Given the description of an element on the screen output the (x, y) to click on. 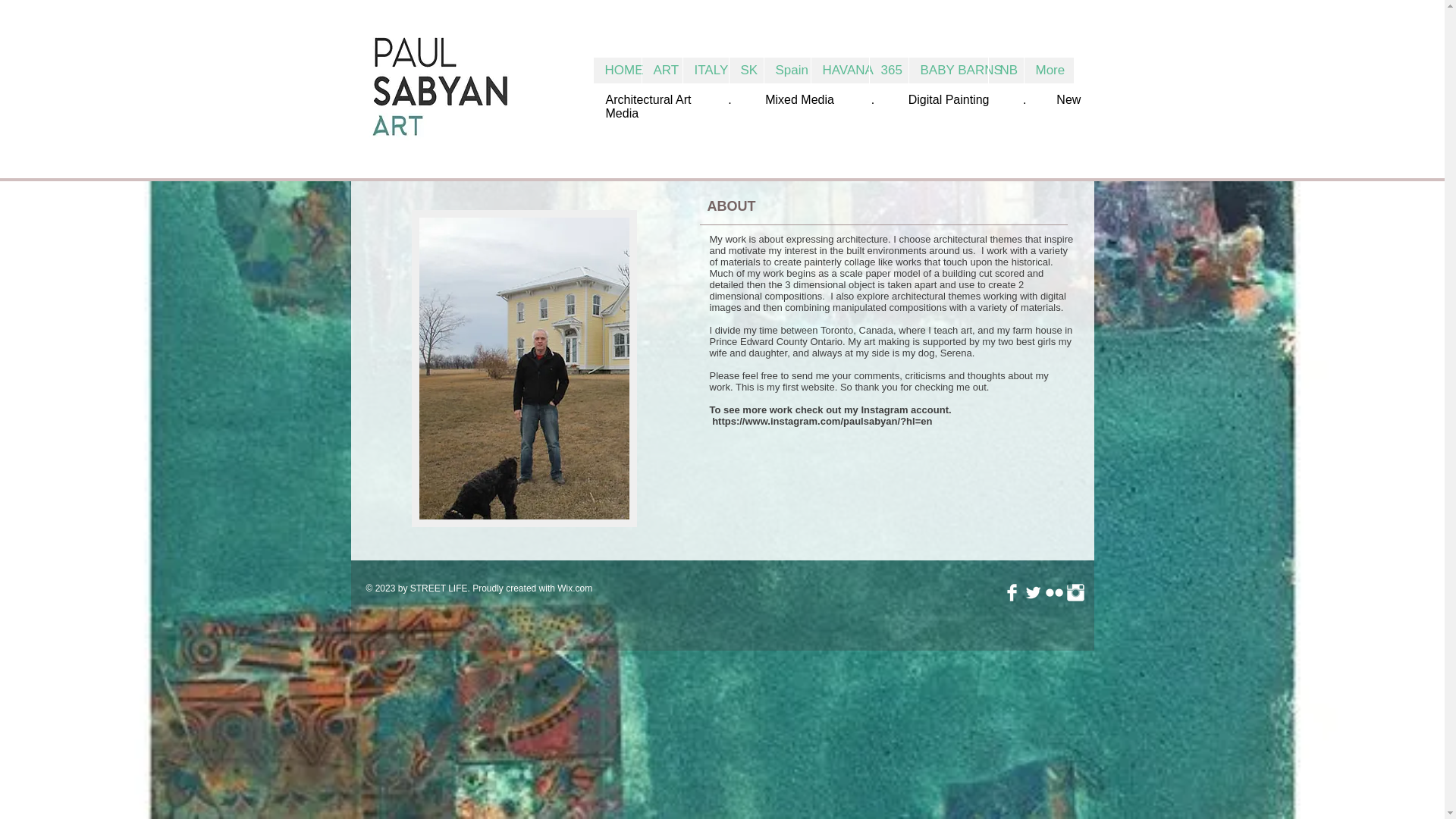
BABY BARNS (948, 70)
Wix.com (574, 588)
HAVANA (838, 70)
ITALY (705, 70)
NB (1005, 70)
365 (888, 70)
Spain (785, 70)
ART (662, 70)
HOME (616, 70)
SK (745, 70)
